Given the description of an element on the screen output the (x, y) to click on. 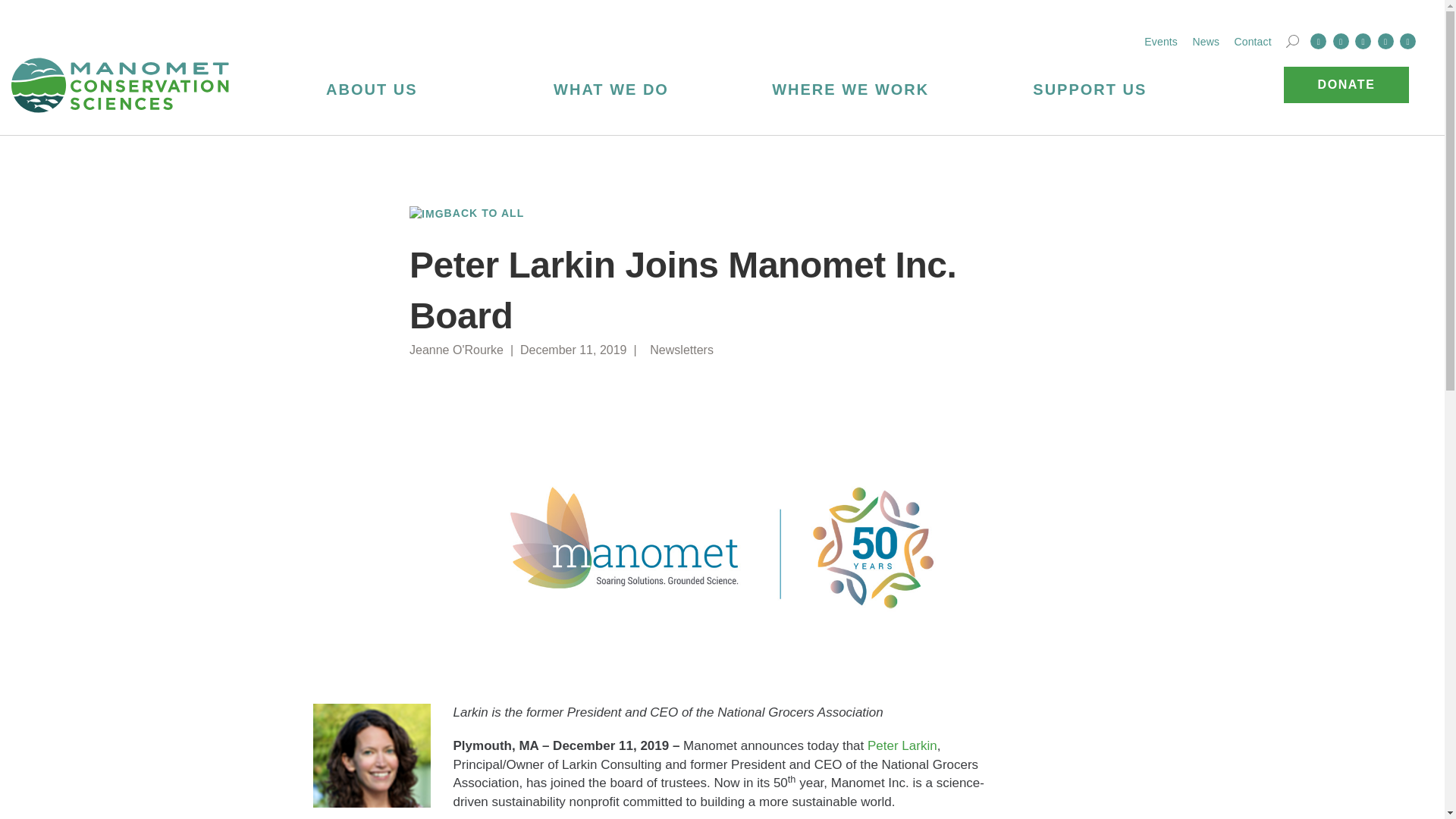
ABOUT US (371, 87)
DONATE (1346, 84)
SUPPORT US (1090, 87)
YouTube (1407, 41)
WHERE WE WORK (850, 87)
Linkedin (1363, 41)
Twitter (1341, 41)
Facebook (1318, 41)
Events (1160, 41)
Instagram (1385, 41)
